Given the description of an element on the screen output the (x, y) to click on. 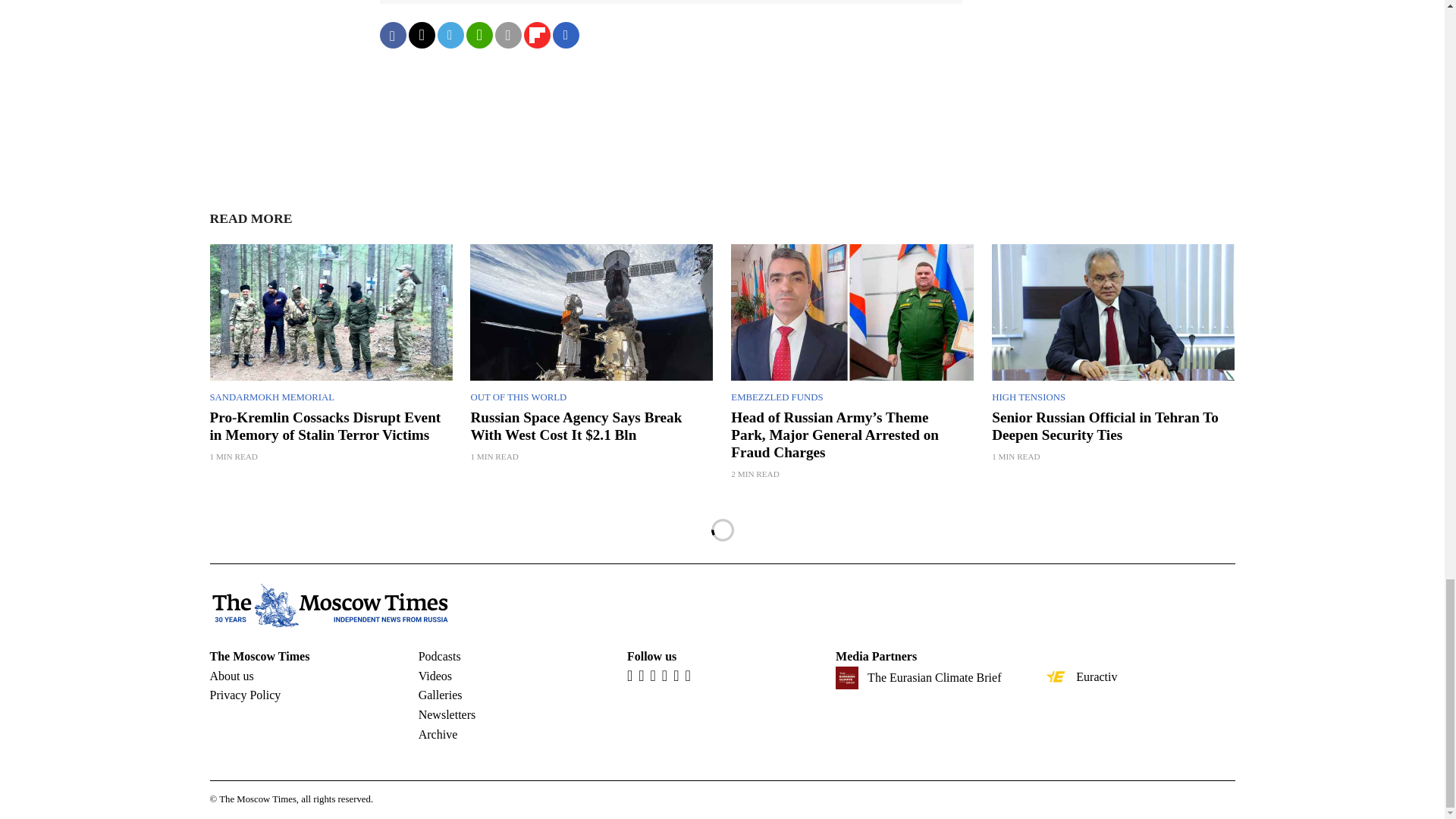
Share on Twitter (420, 35)
Share on Telegram (449, 35)
Share on Flipboard (536, 35)
Share on Facebook (392, 35)
